Given the description of an element on the screen output the (x, y) to click on. 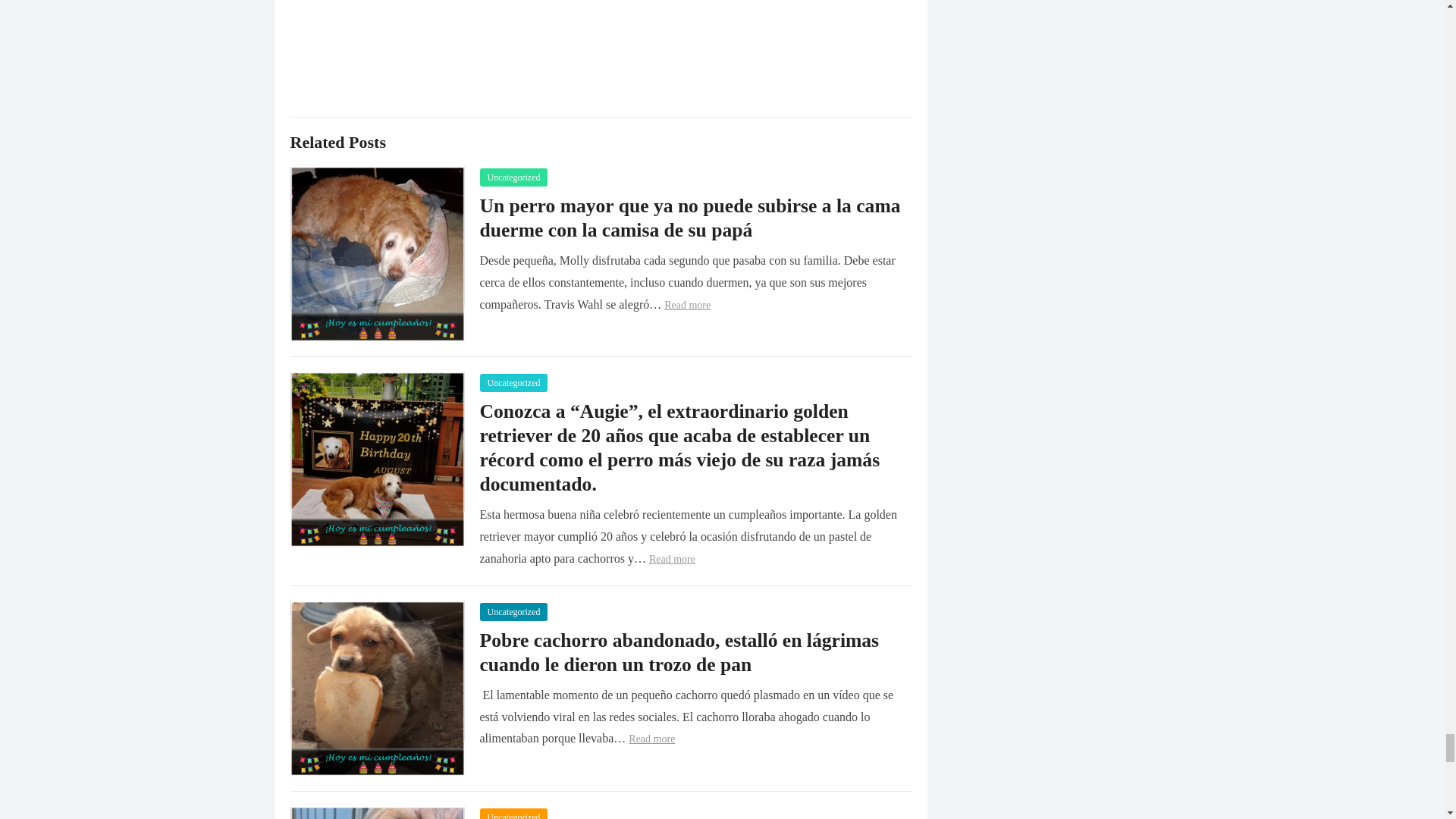
Uncategorized (513, 382)
Uncategorized (513, 813)
Uncategorized (513, 611)
Read more (686, 305)
Uncategorized (513, 177)
Read more (651, 738)
Read more (672, 559)
